Given the description of an element on the screen output the (x, y) to click on. 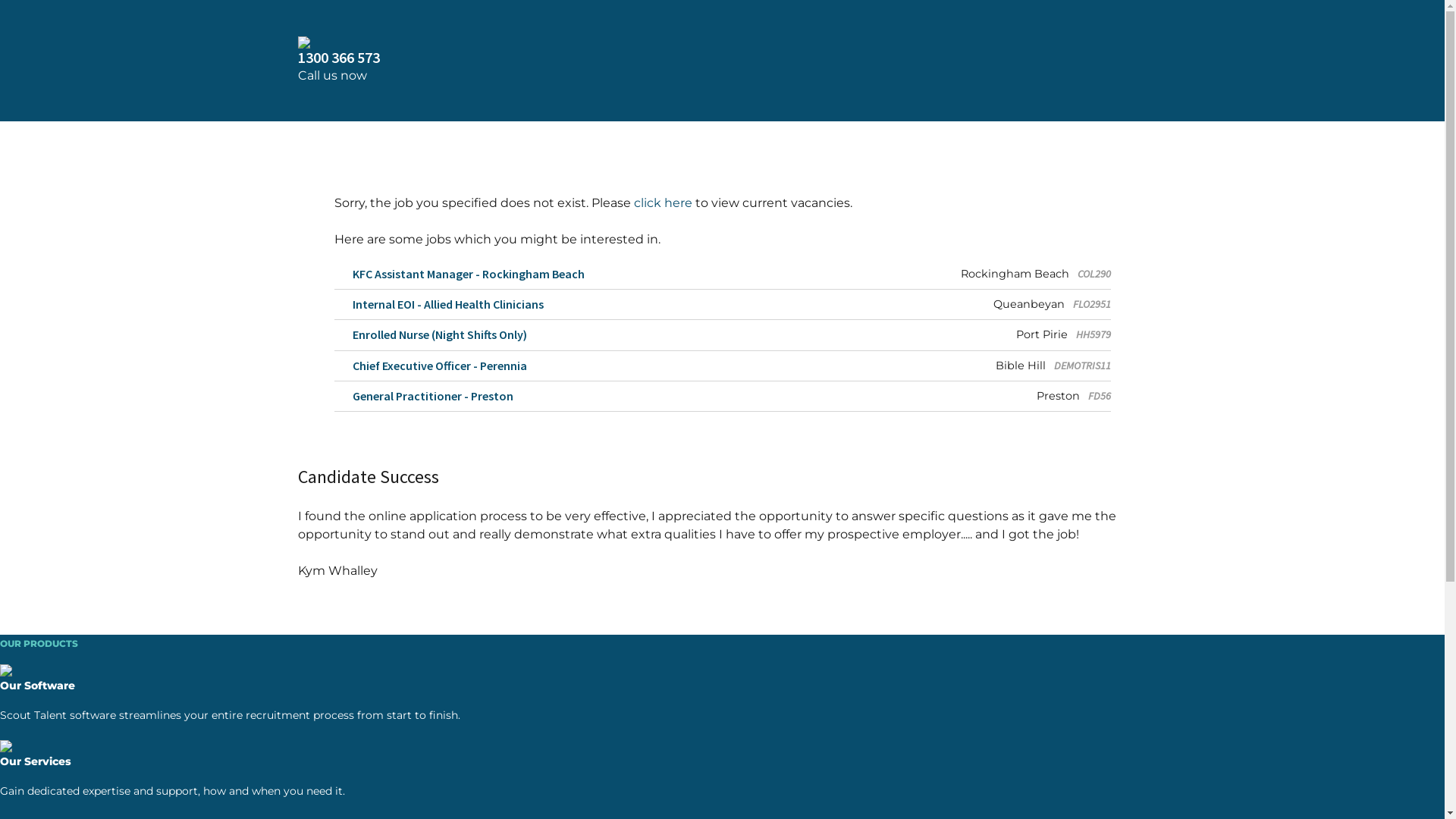
KFC Assistant Manager - Rockingham Beach Element type: text (458, 273)
Scout Talent Element type: hover (721, 42)
click here Element type: text (662, 202)
Internal EOI - Allied Health Clinicians Element type: text (437, 304)
Chief Executive Officer - Perennia Element type: text (429, 365)
General Practitioner - Preston Element type: text (422, 396)
Enrolled Nurse (Night Shifts Only) Element type: text (429, 334)
